Given the description of an element on the screen output the (x, y) to click on. 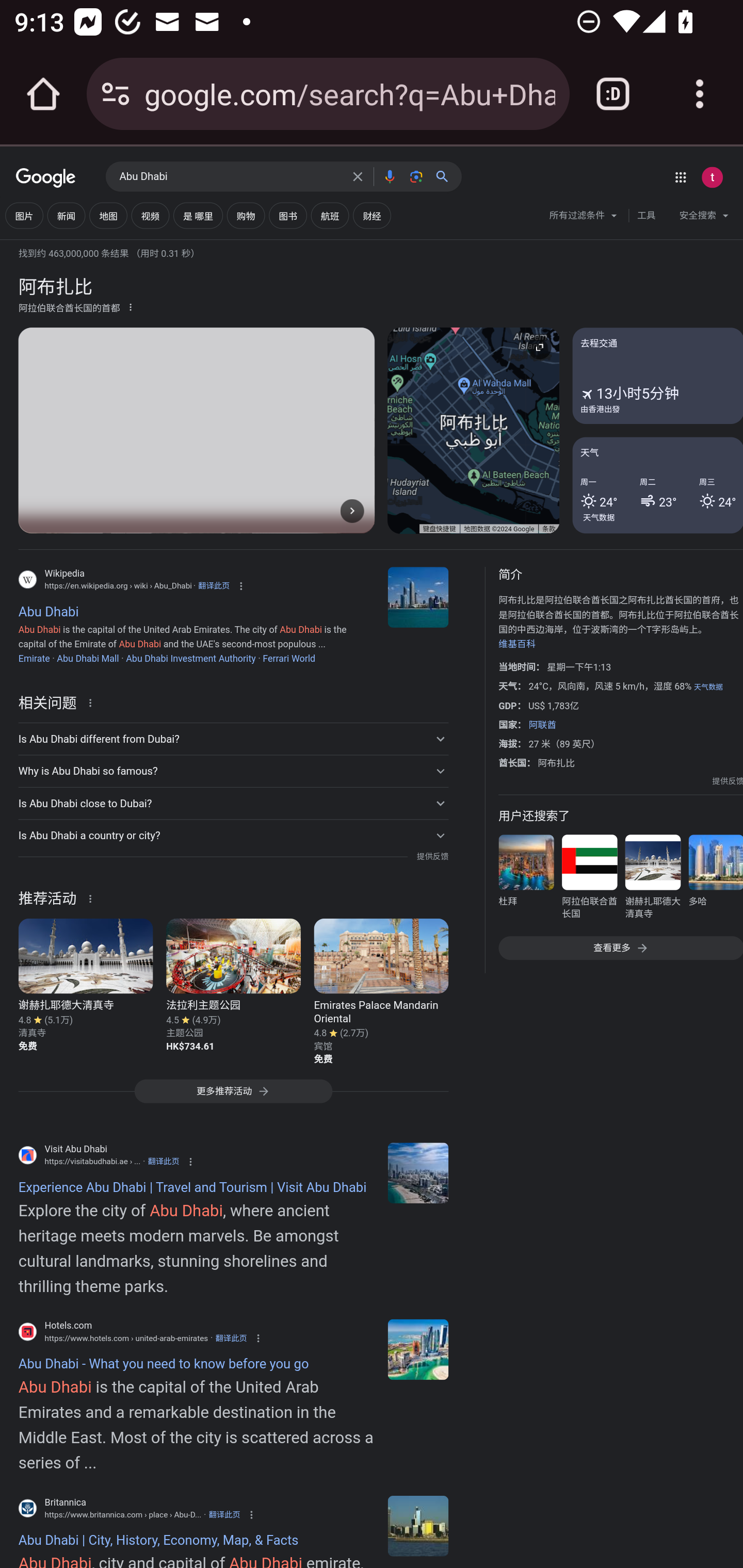
Open the home page (43, 93)
Connection is secure (115, 93)
Switch or close tabs (612, 93)
Customize and control Google Chrome (699, 93)
清除 (357, 176)
按语音搜索 (389, 176)
按图搜索 (415, 176)
搜索 (446, 176)
Google 应用 (680, 176)
Google 账号： test appium (testappium002@gmail.com) (712, 176)
Google (45, 178)
Abu Dhabi (229, 177)
图片 (24, 215)
新闻 (65, 215)
地图 (107, 215)
视频 (149, 215)
添加“是 哪里” 是 哪里 (197, 215)
购物 (245, 215)
图书 (287, 215)
航班 (329, 215)
财经 (371, 215)
所有过滤条件 (583, 217)
工具 (646, 215)
安全搜索 (703, 217)
更多选项 (130, 306)
去程交通 13小时5分钟 乘坐飞机 由香港出發 (657, 375)
展开地图 (539, 346)
天气 周一 高温 24 度 周二 高温 23 度 周三 高温 24 度 (657, 484)
下一张图片 (352, 510)
天气数据 (599, 516)
Abu_Dhabi (417, 597)
翻译此页 (213, 585)
维基百科 (516, 643)
Emirate (33, 658)
Abu Dhabi Mall (87, 658)
Abu Dhabi Investment Authority (190, 658)
Ferrari World (288, 658)
天气数据 (708, 687)
关于这条结果的详细信息 (93, 701)
阿联酋 (541, 724)
Is Abu Dhabi different from Dubai? (232, 738)
Why is Abu Dhabi so famous? (232, 770)
提供反馈 (727, 781)
Is Abu Dhabi close to Dubai? (232, 803)
Is Abu Dhabi a country or city? (232, 835)
杜拜 (526, 880)
阿拉伯联合酋长国 (588, 880)
谢赫扎耶德大清真寺 (652, 880)
多哈 (715, 880)
提供反馈 (432, 856)
关于这条结果的详细信息 (93, 897)
查看更多 查看更多 查看更多 (620, 947)
更多推荐活动 (232, 1096)
en (417, 1172)
翻译此页 (163, 1161)
abu-dhabi (417, 1348)
翻译此页 (230, 1338)
Abu-Dhabi (417, 1526)
翻译此页 (224, 1514)
